Given the description of an element on the screen output the (x, y) to click on. 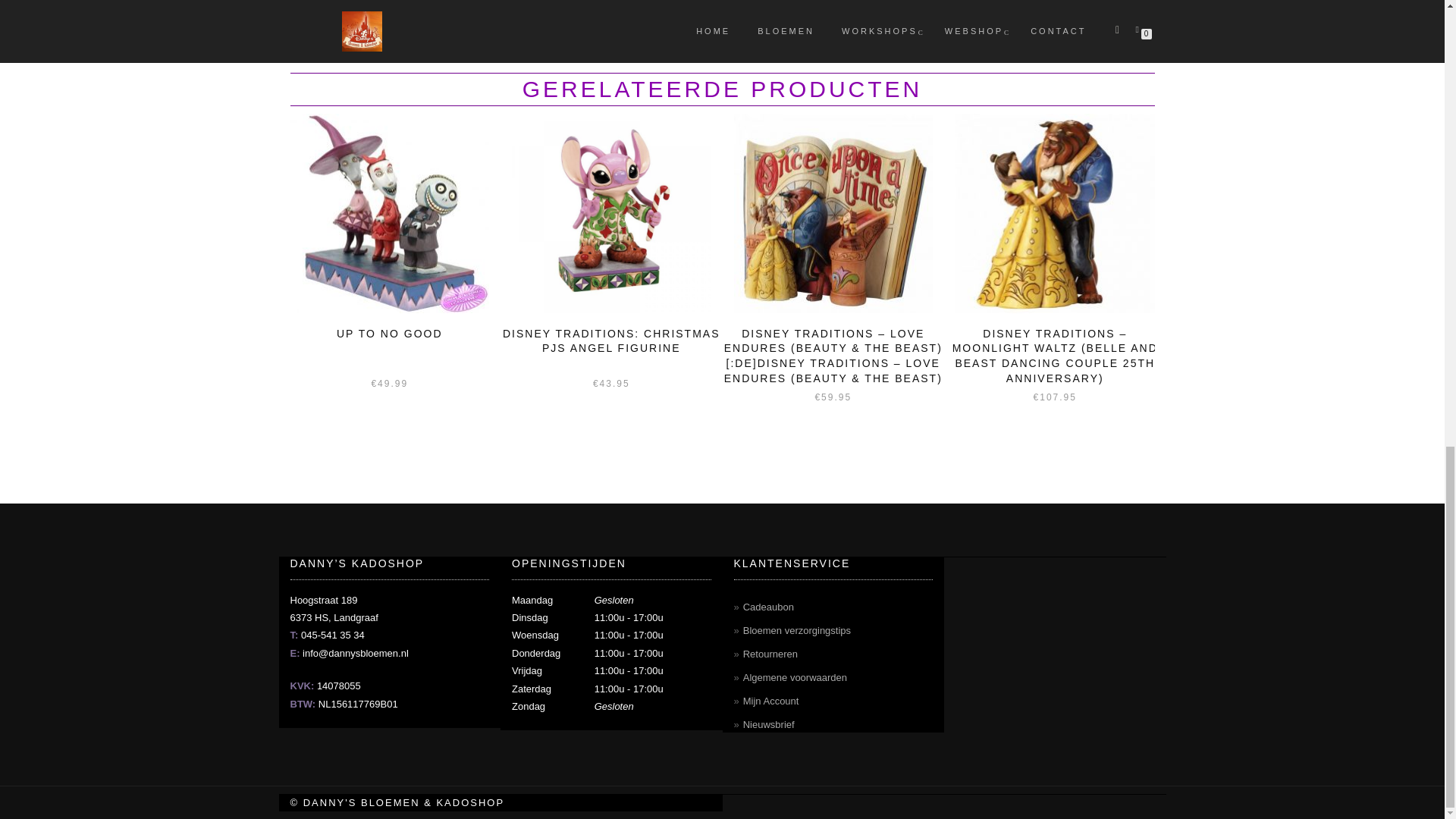
2667827-4049619-2-3-560 (1054, 212)
ENES6008993 (389, 212)
Disney Traditions: Christmas PJs Angel Figurine (611, 212)
